Given the description of an element on the screen output the (x, y) to click on. 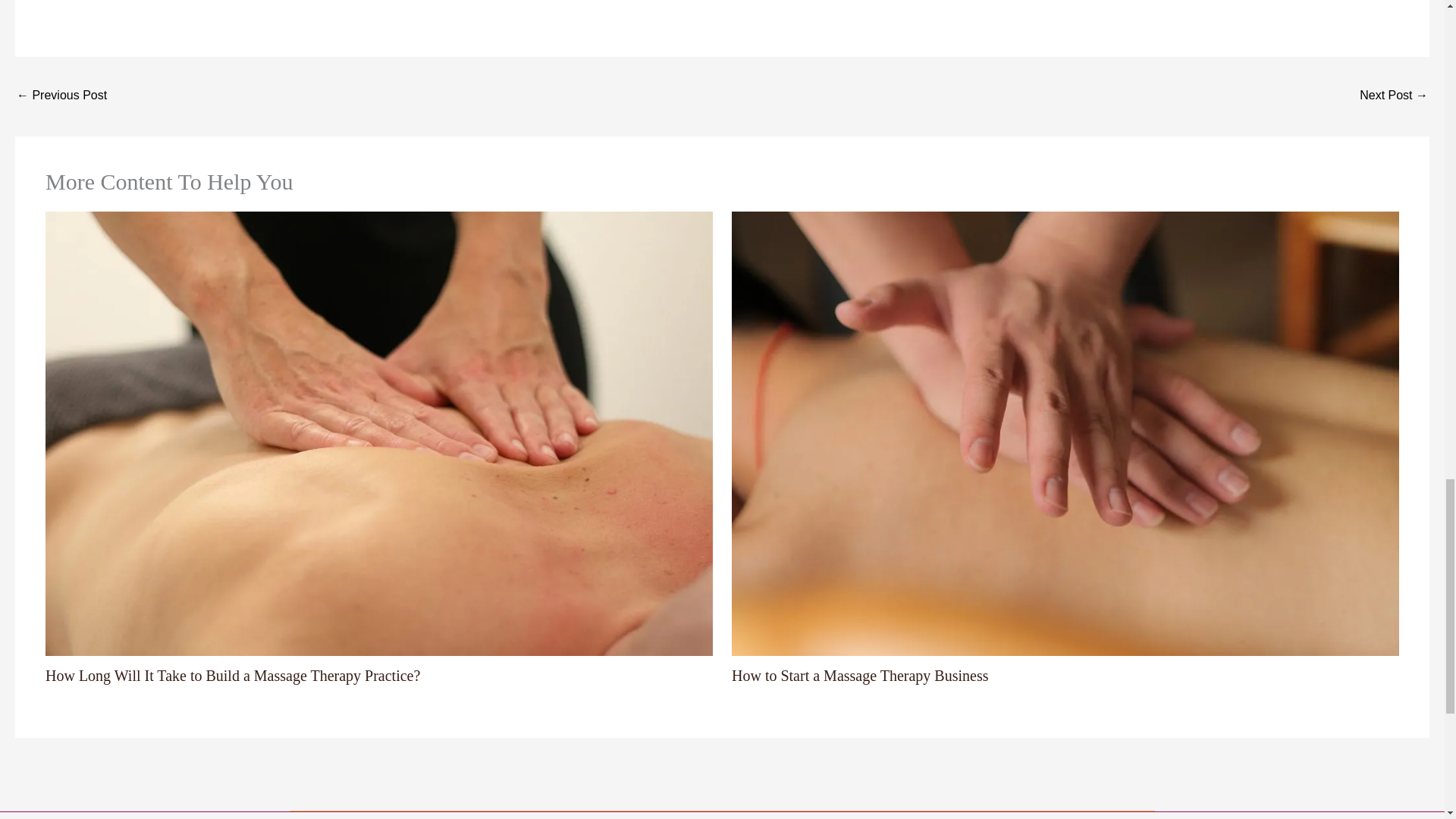
What the heck is a social media detox? (1393, 96)
How to Start a Massage Therapy Business (860, 675)
How Long Will It Take to Build a Massage Therapy Practice? (232, 675)
